Given the description of an element on the screen output the (x, y) to click on. 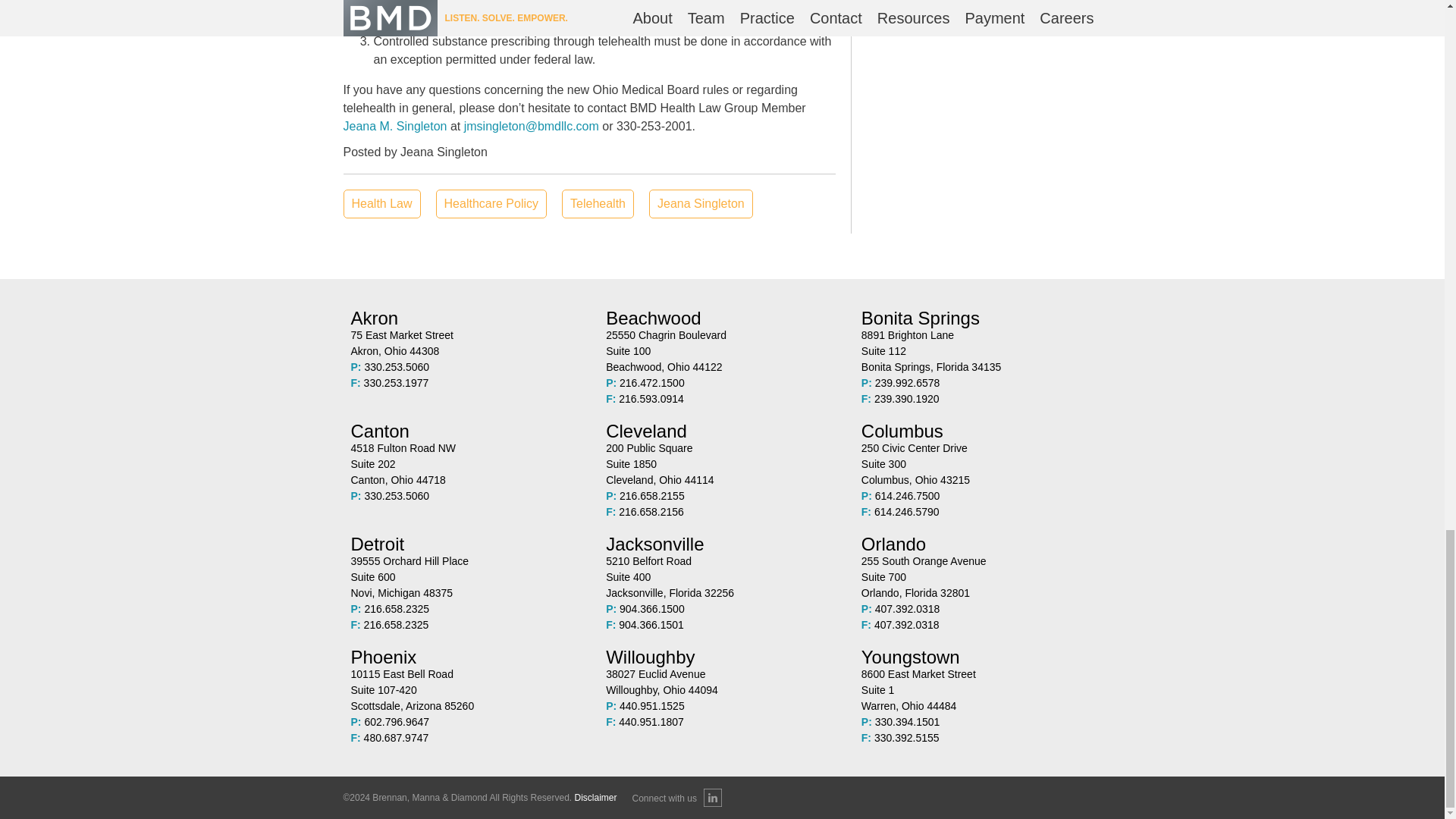
Health Law (381, 203)
Healthcare Policy (491, 203)
Jeana Singleton (721, 464)
Disclaimer (721, 682)
LinkedIn (466, 464)
